Given the description of an element on the screen output the (x, y) to click on. 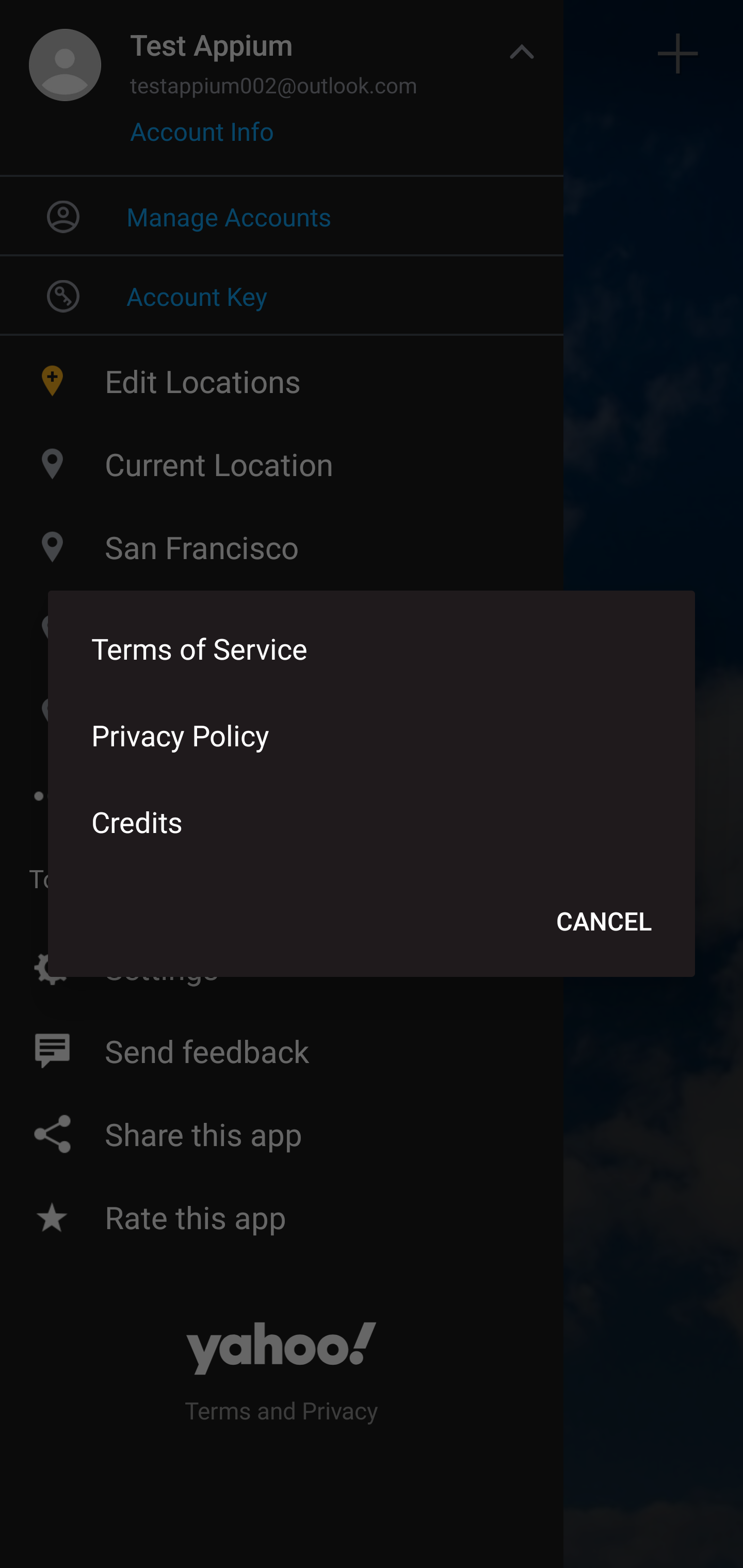
Terms of Service (371, 648)
Privacy Policy (371, 734)
Credits (371, 821)
CANCEL (603, 920)
